Given the description of an element on the screen output the (x, y) to click on. 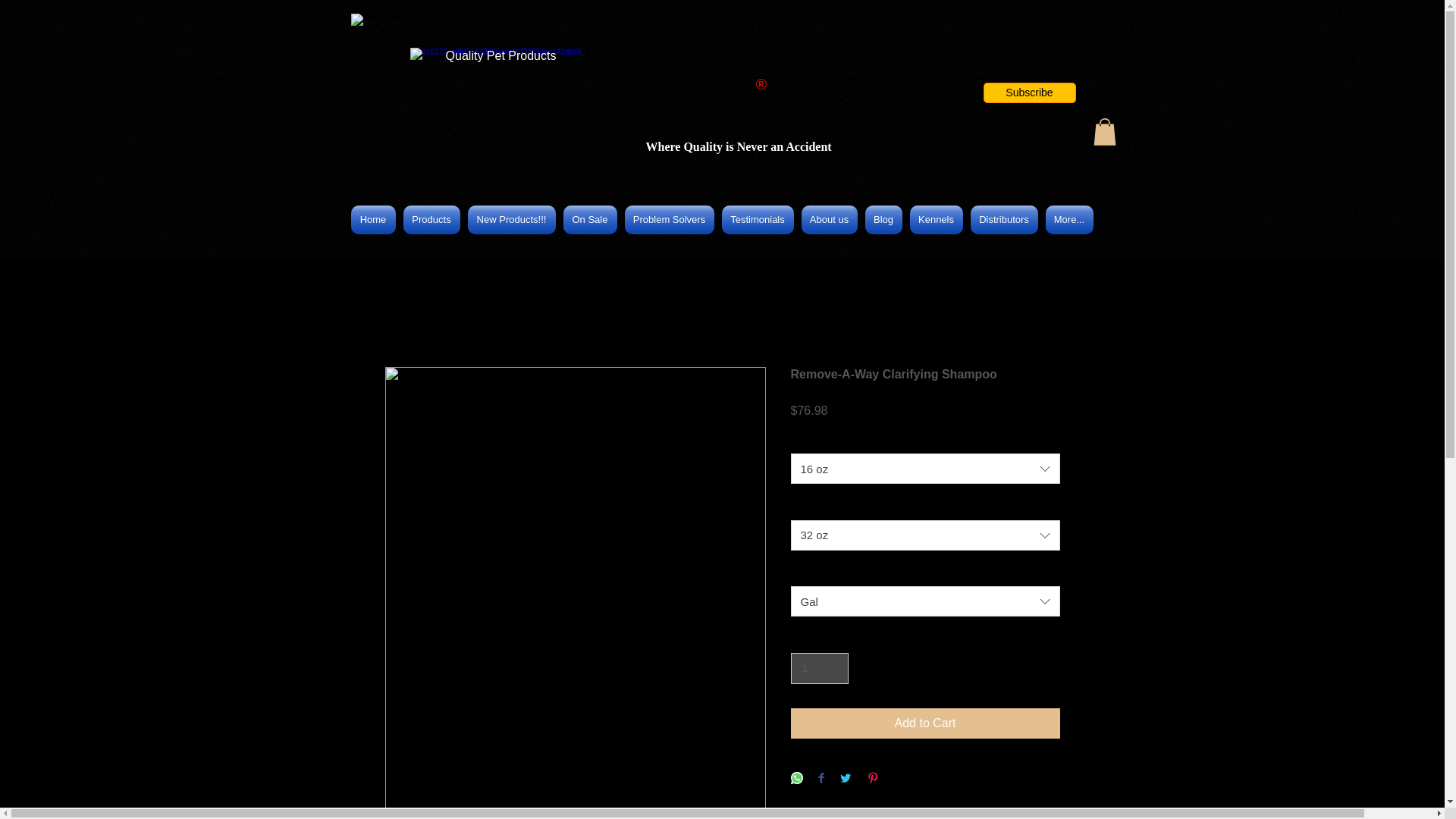
About us (829, 219)
Add to Cart (924, 723)
SUN Logo with Transparent Back Ground.png (392, 44)
Products (430, 219)
New Products!!! (511, 219)
Distributors (1003, 219)
1 (818, 667)
SummeWinds Logo (581, 87)
Blog (883, 219)
Testimonials (756, 219)
Gal (924, 601)
On Sale (590, 219)
Problem Solvers (668, 219)
Kennels (935, 219)
Home (374, 219)
